Given the description of an element on the screen output the (x, y) to click on. 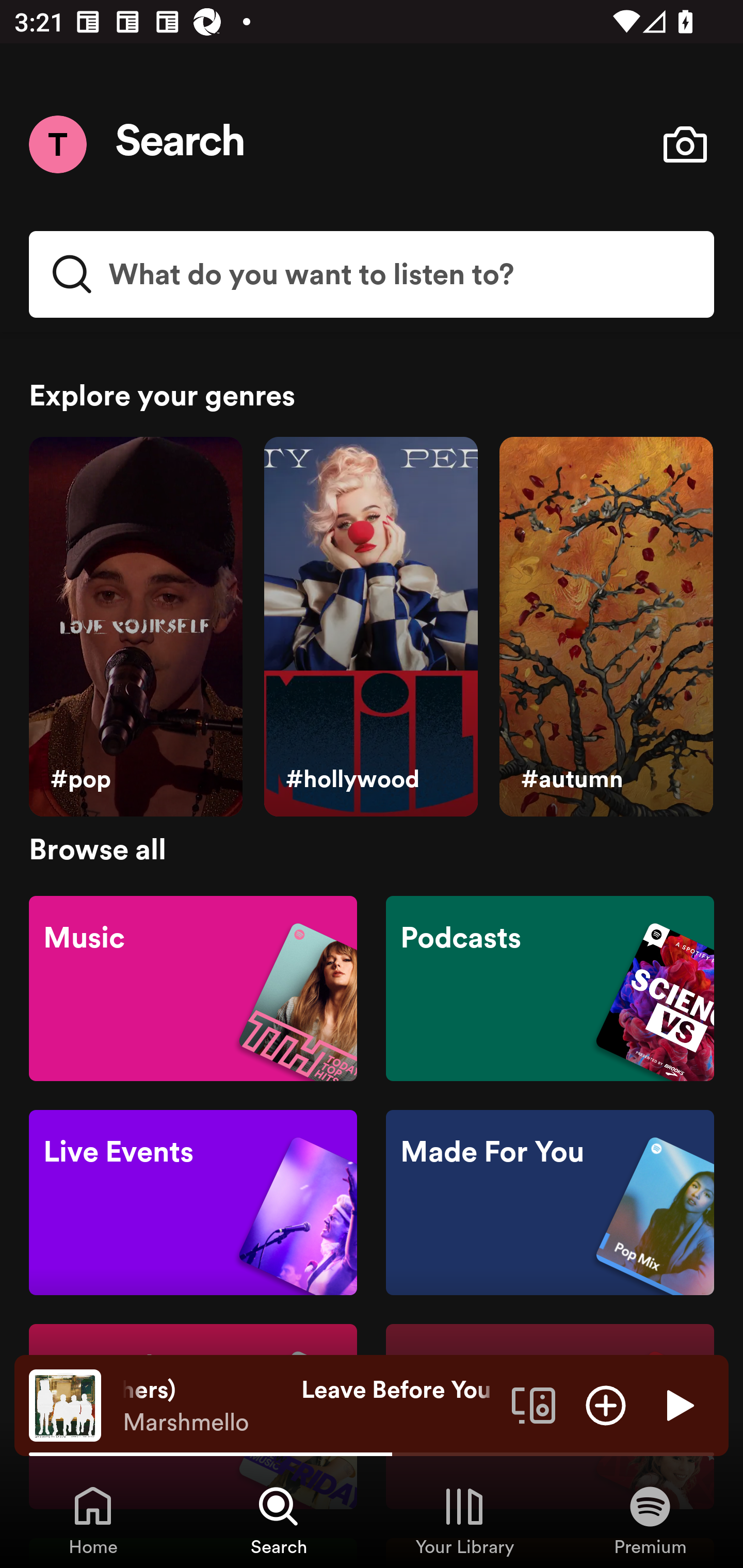
Menu (57, 144)
Open camera (685, 145)
Search (180, 144)
#pop (135, 626)
#hollywood (370, 626)
#autumn (606, 626)
Music (192, 987)
Podcasts (549, 987)
Live Events (192, 1202)
Made For You (549, 1202)
The cover art of the currently playing track (64, 1404)
Connect to a device. Opens the devices menu (533, 1404)
Add item (605, 1404)
Play (677, 1404)
Home, Tab 1 of 4 Home Home (92, 1519)
Search, Tab 2 of 4 Search Search (278, 1519)
Your Library, Tab 3 of 4 Your Library Your Library (464, 1519)
